Given the description of an element on the screen output the (x, y) to click on. 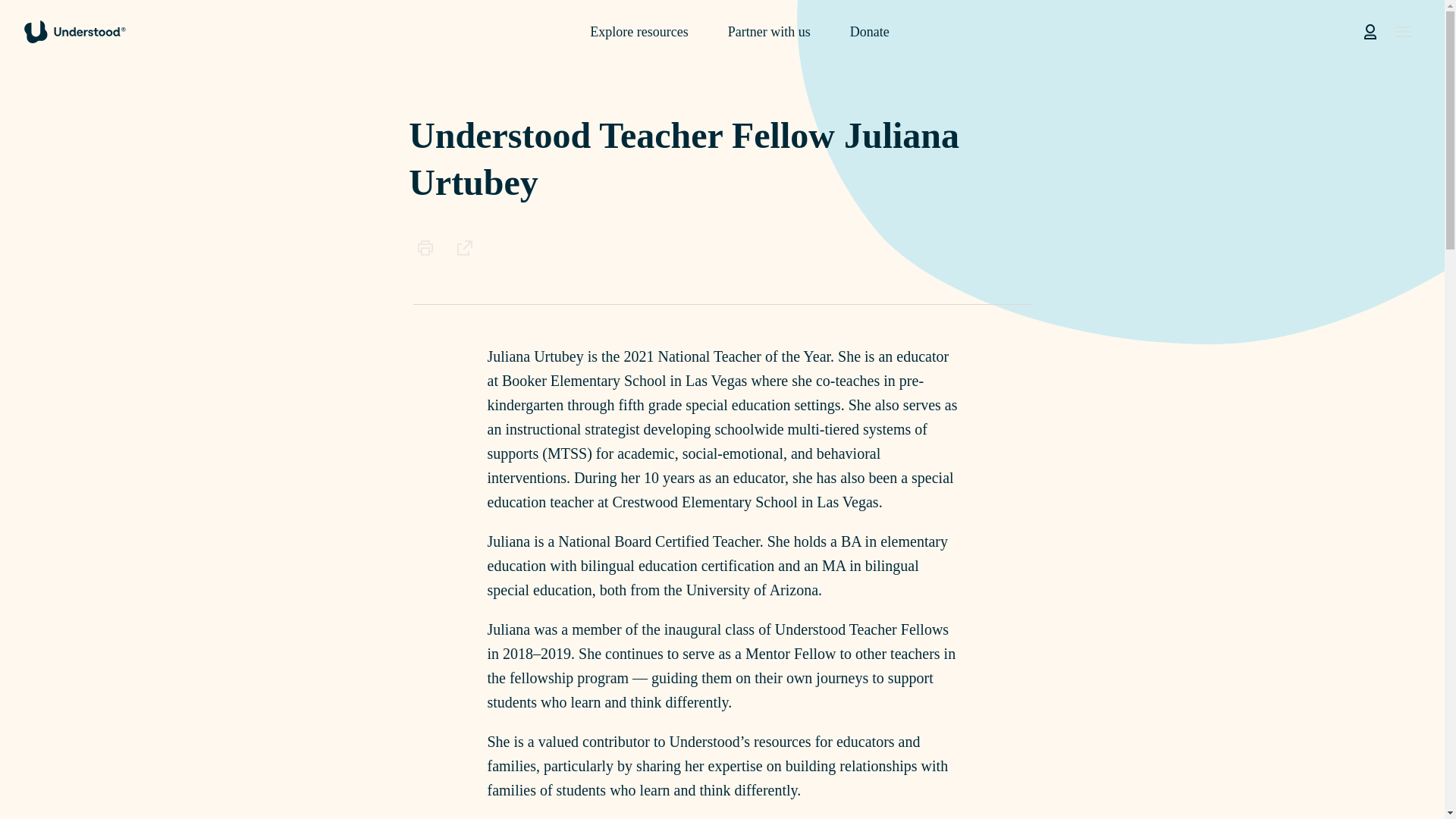
Explore resources (638, 31)
Donate (869, 31)
Partner with us (769, 31)
